Given the description of an element on the screen output the (x, y) to click on. 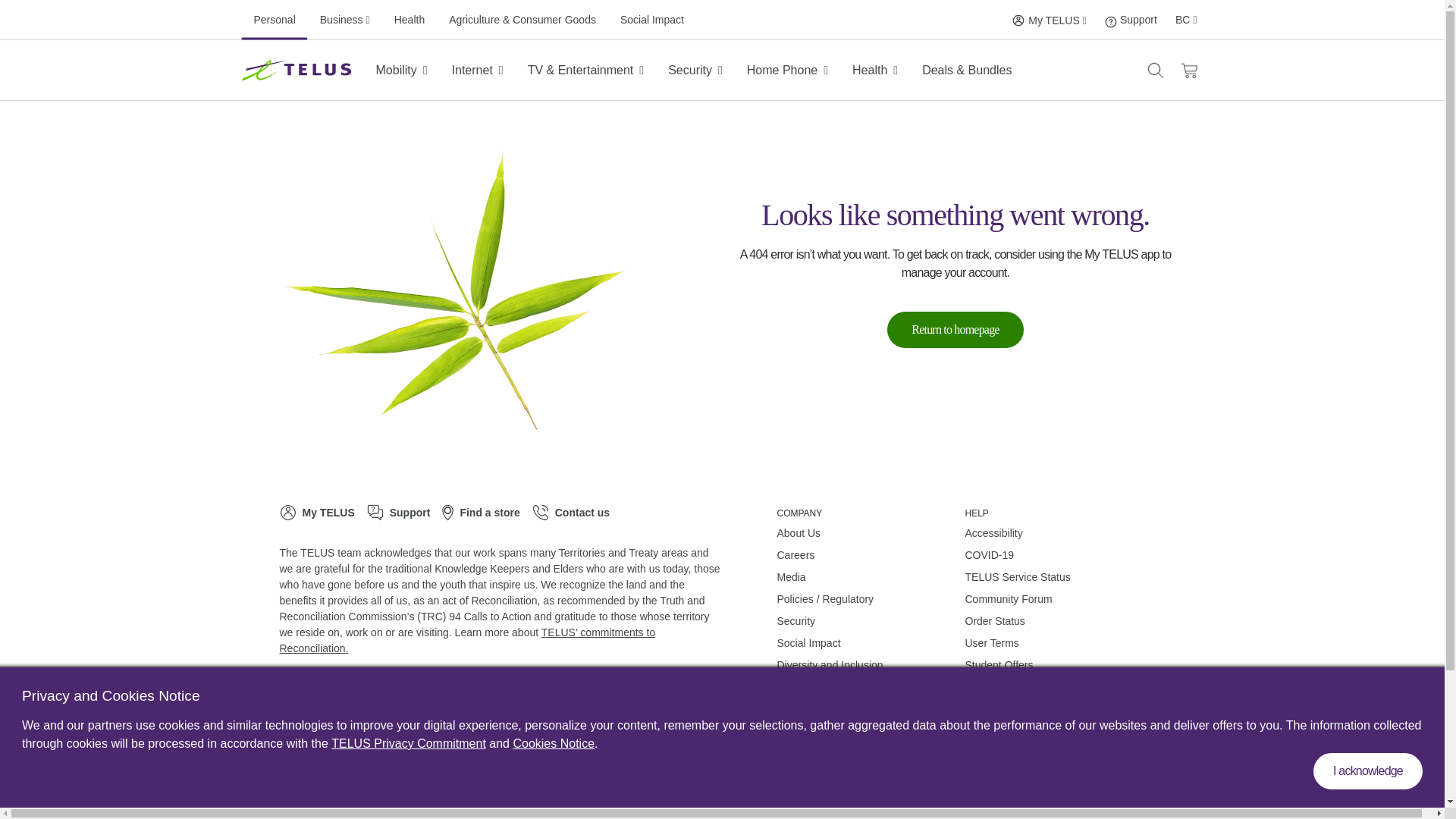
Support (1110, 21)
Login (1131, 19)
Social Impact (1018, 20)
Personal (652, 19)
Health (274, 19)
Business (1049, 19)
